Given the description of an element on the screen output the (x, y) to click on. 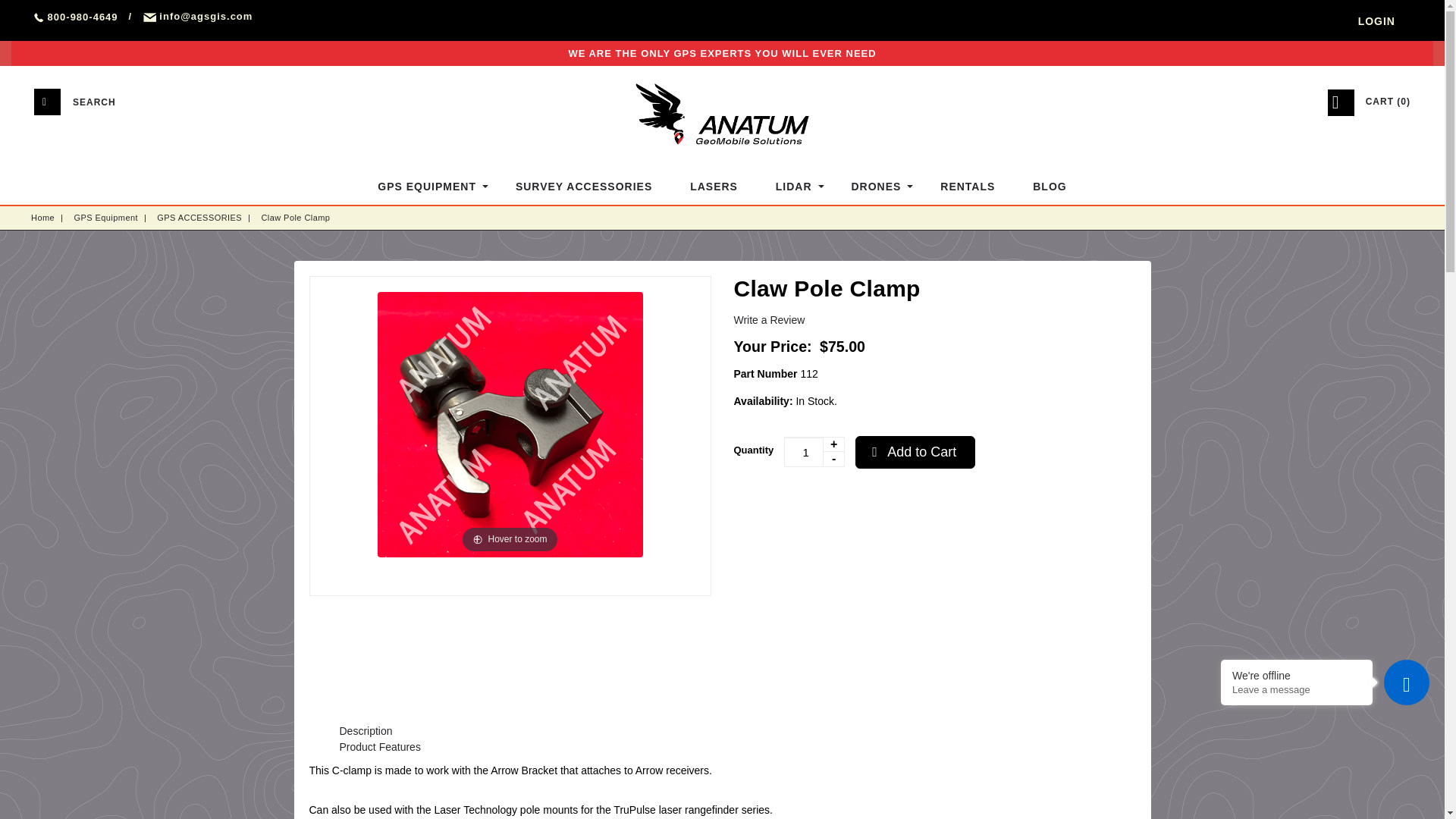
GPS EQUIPMENT (427, 186)
DRONES (876, 186)
Claw Pole Clamp (295, 216)
Home (42, 216)
LASERS (713, 186)
LOGIN (1376, 21)
1 (814, 451)
GPS Equipment (106, 216)
Leave a message (1296, 689)
LIDAR (794, 186)
BLOG (1048, 186)
We're offline (1296, 675)
 800-980-4649 (75, 17)
Hover to zoom (510, 423)
RENTALS (967, 186)
